Given the description of an element on the screen output the (x, y) to click on. 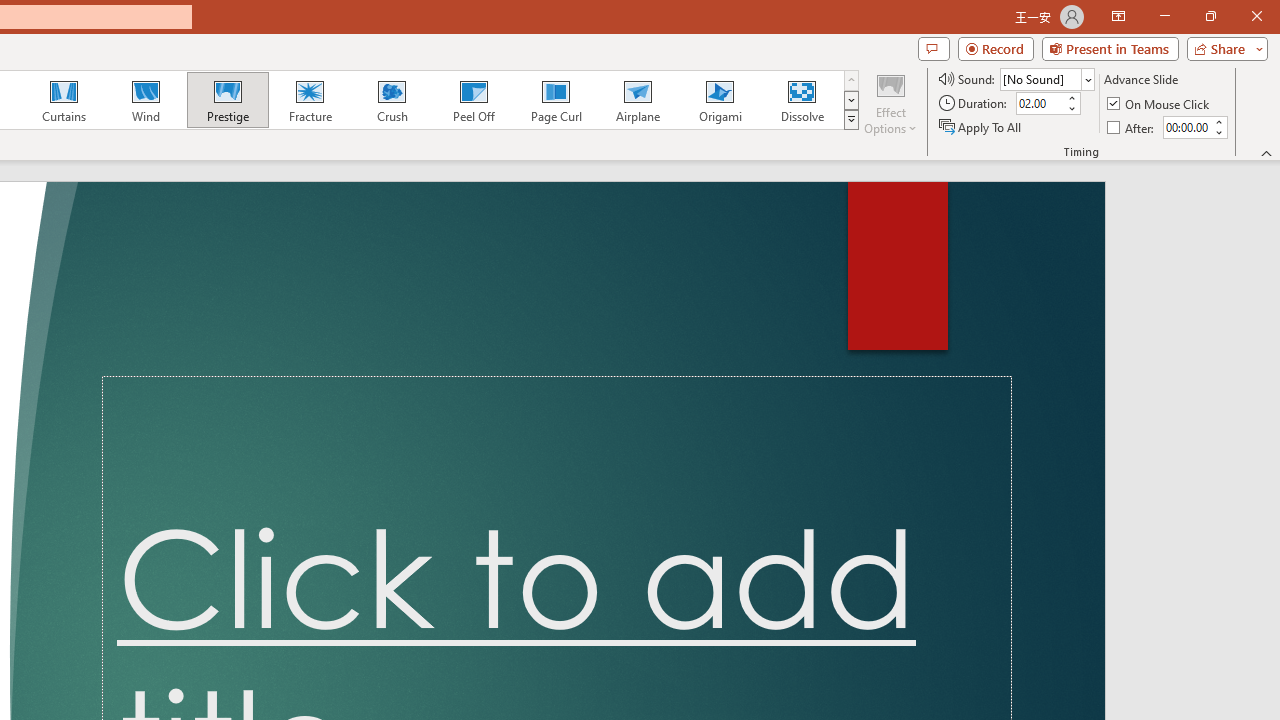
Apply To All (981, 126)
Dissolve (802, 100)
Duration (1039, 103)
Less (1218, 132)
Airplane (637, 100)
On Mouse Click (1159, 103)
Origami (719, 100)
Fracture (309, 100)
